Given the description of an element on the screen output the (x, y) to click on. 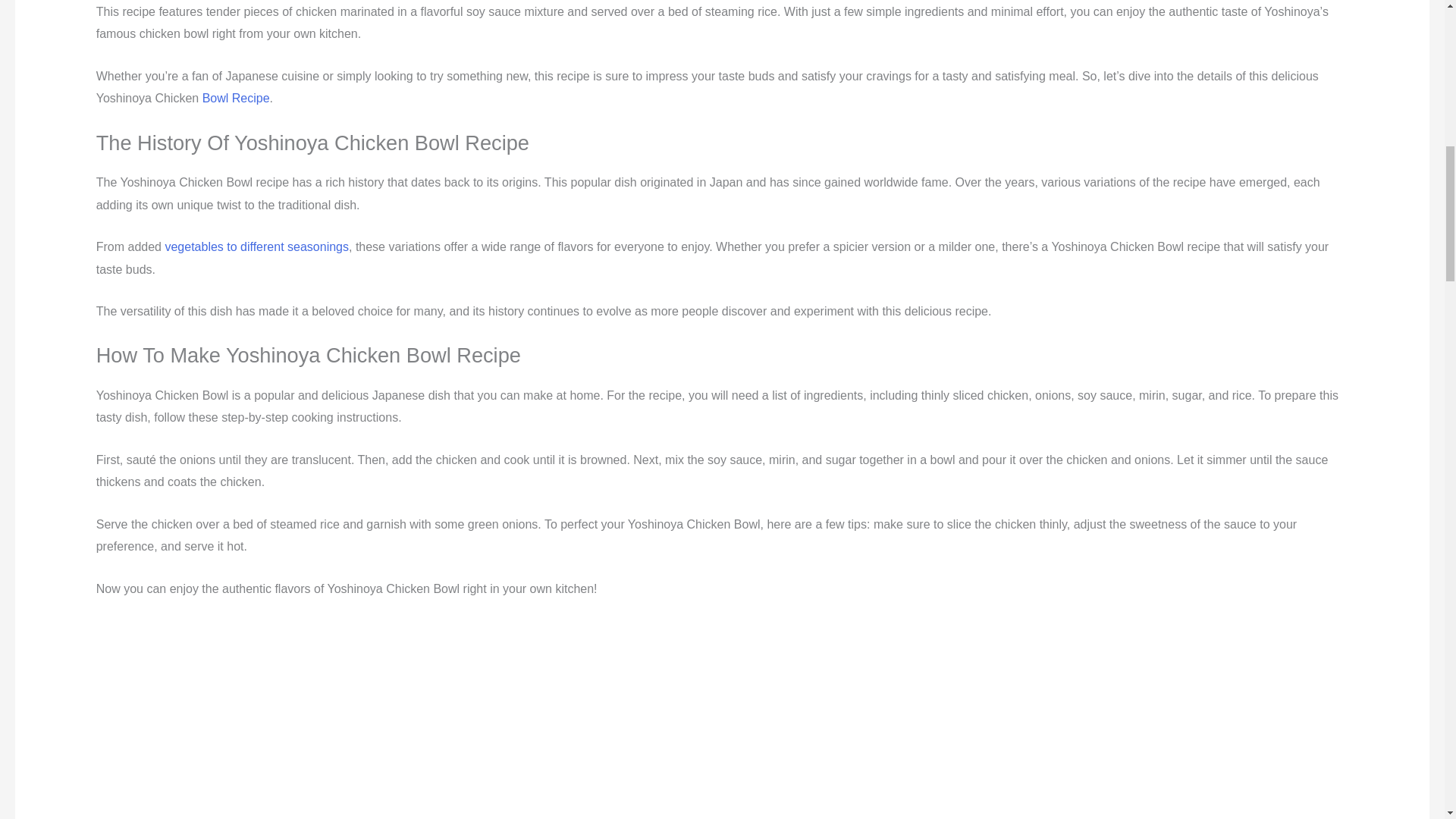
Bowl Recipe (235, 97)
vegetables to different seasonings (256, 246)
YouTube video player (721, 719)
